Given the description of an element on the screen output the (x, y) to click on. 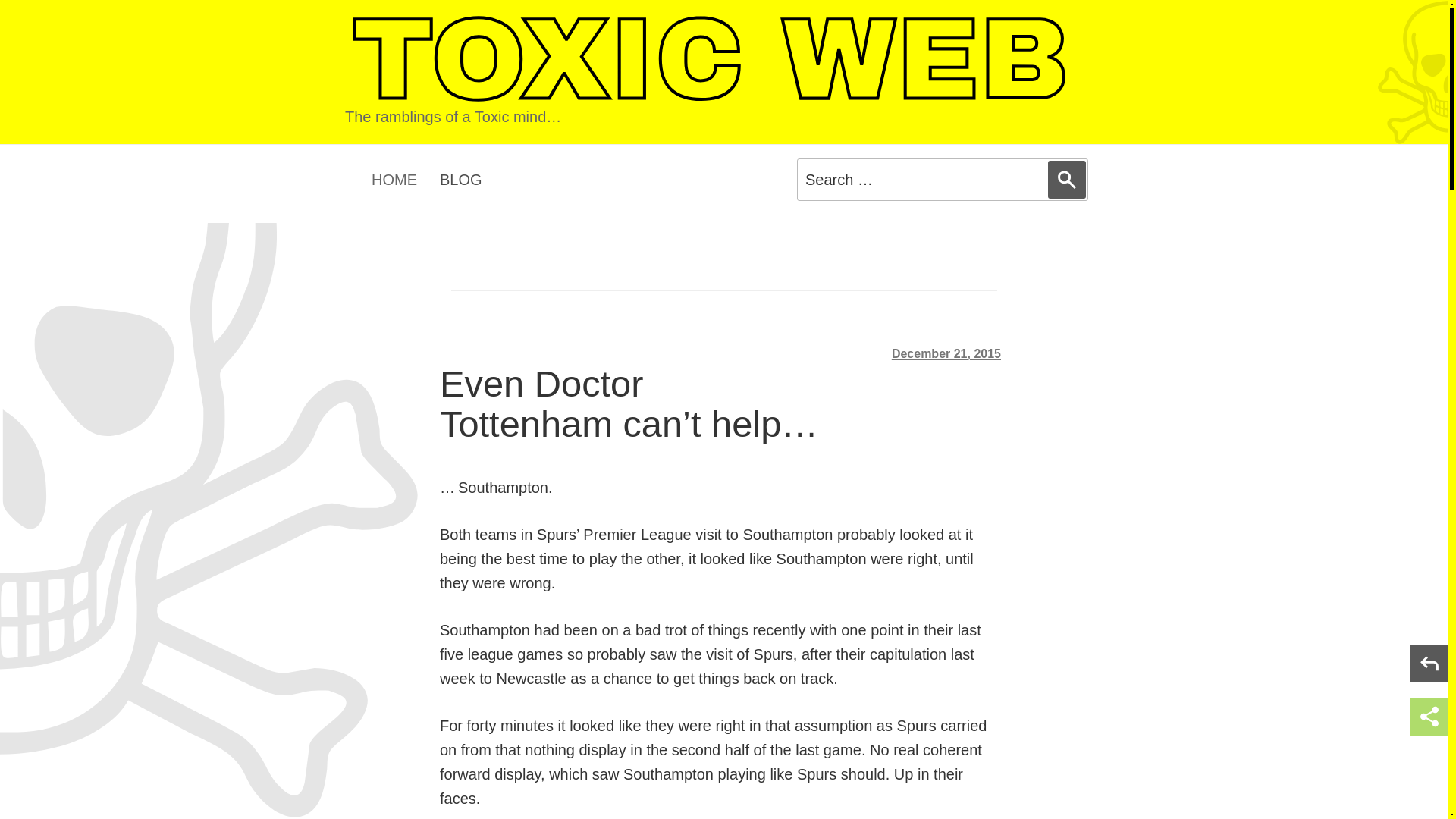
December 21, 2015 (946, 353)
BLOG (460, 179)
Toxic Web (709, 59)
Search (1067, 179)
HOME (393, 179)
Toxic Web (709, 59)
